Given the description of an element on the screen output the (x, y) to click on. 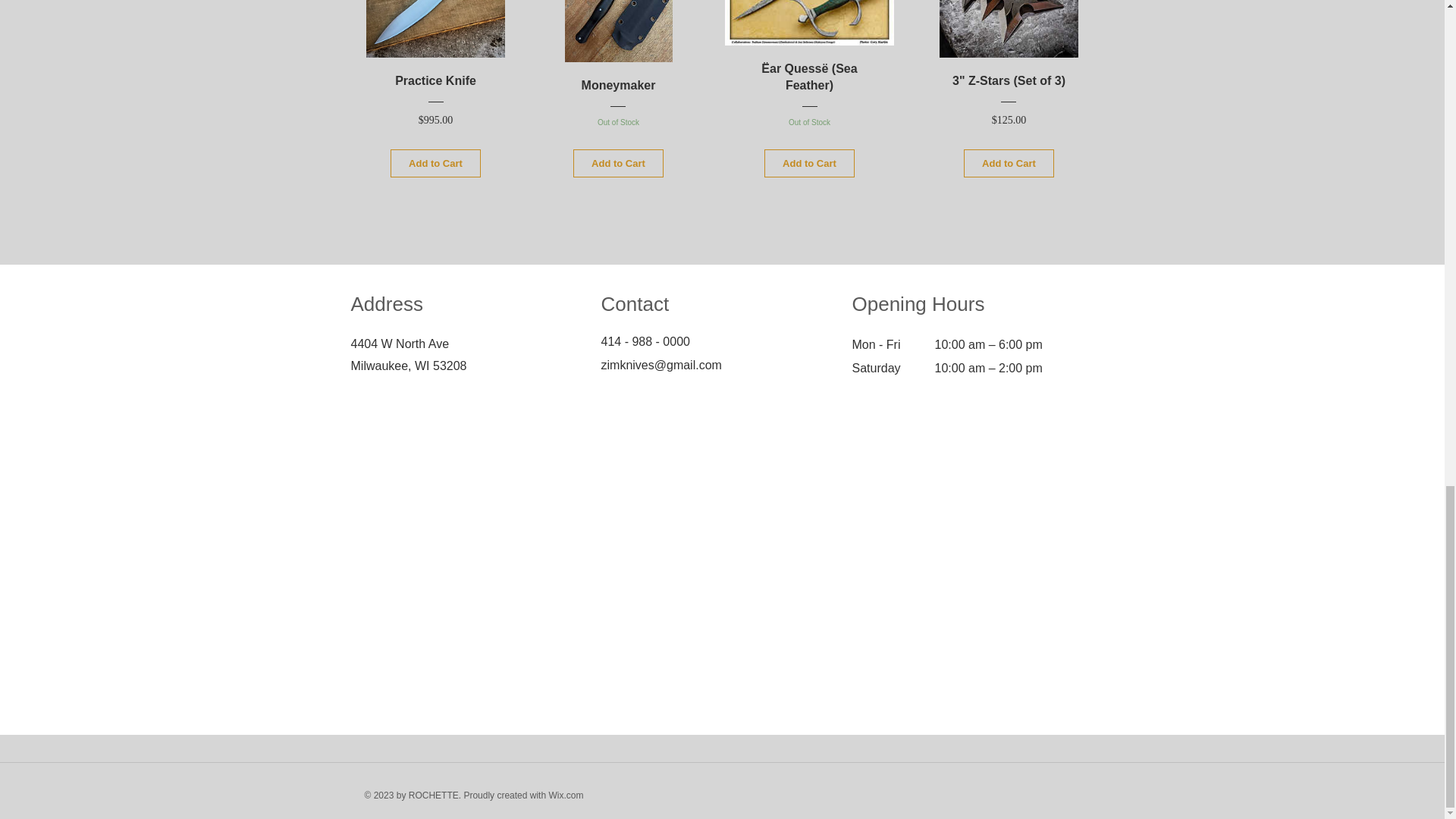
Wix.com (565, 795)
Add to Cart (435, 163)
Add to Cart (618, 96)
Add to Cart (617, 163)
Add to Cart (808, 163)
